Given the description of an element on the screen output the (x, y) to click on. 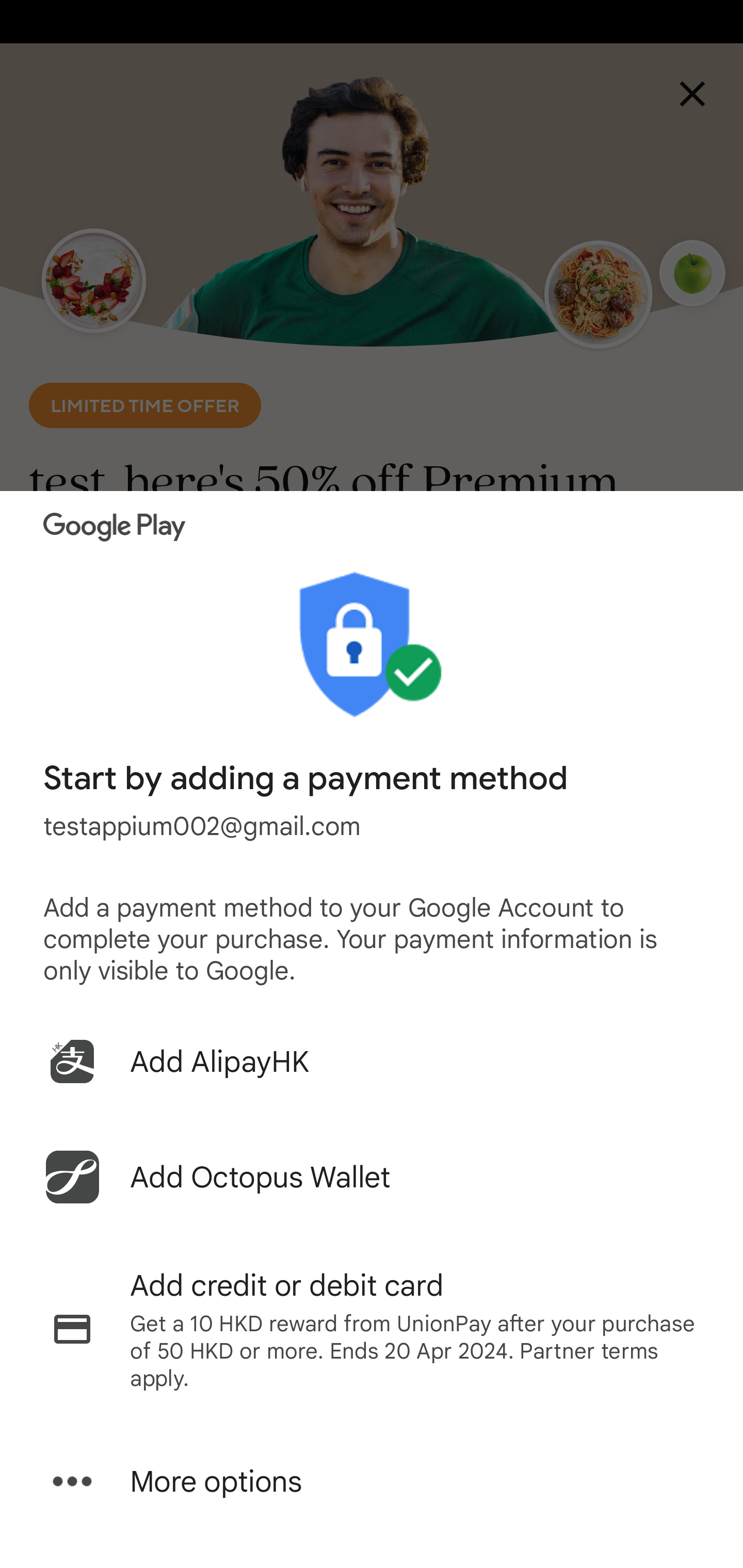
Add AlipayHK (371, 1061)
Add Octopus Wallet (371, 1177)
More options (371, 1481)
